Given the description of an element on the screen output the (x, y) to click on. 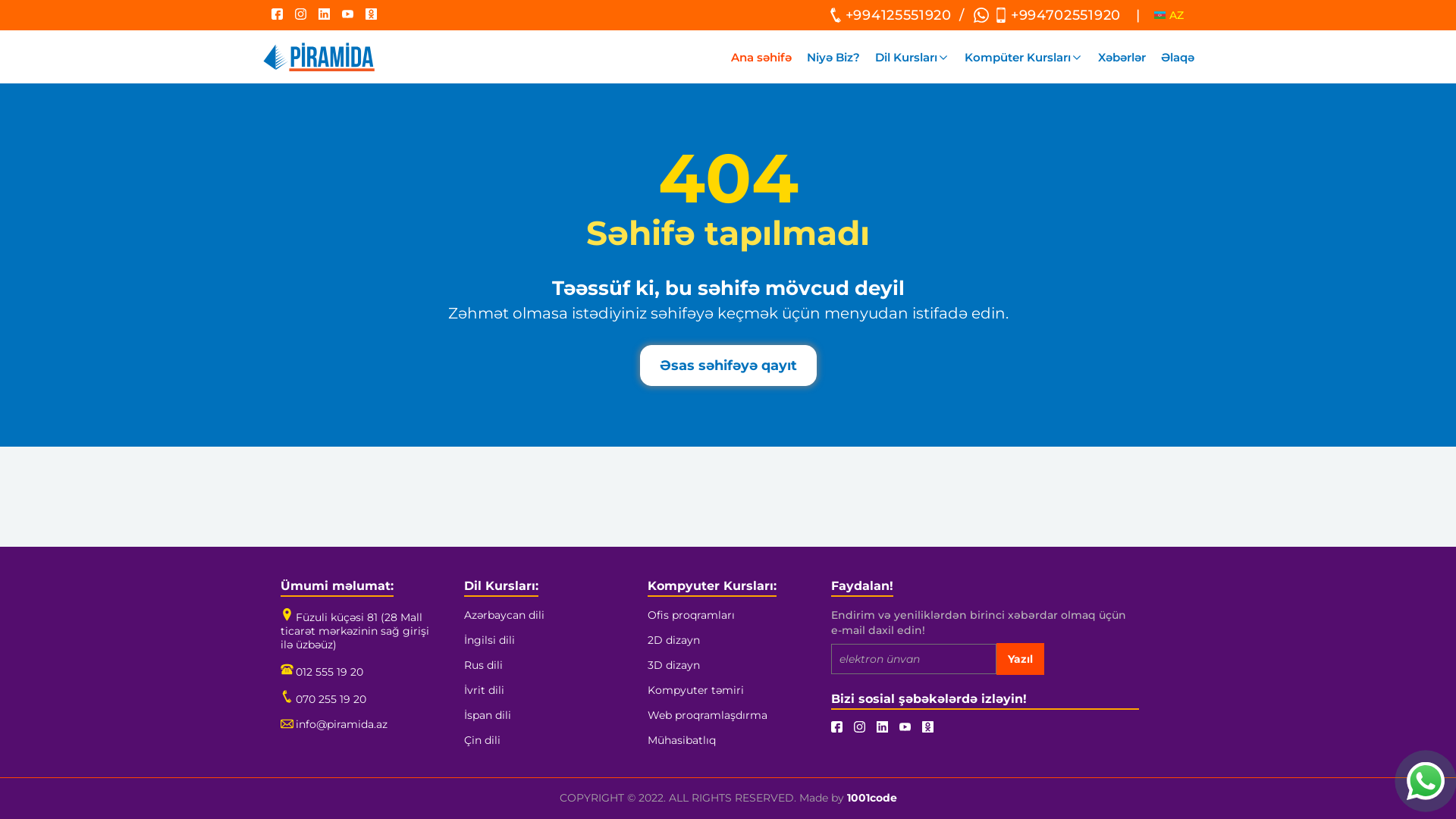
1001code Element type: text (871, 797)
3D dizayn Element type: text (673, 664)
Faydalan! Element type: text (862, 586)
012 555 19 20 Element type: text (321, 671)
info@piramida.az Element type: text (333, 724)
+994702551920 Element type: text (1055, 14)
2D dizayn Element type: text (673, 639)
Rus dili Element type: text (483, 664)
070 255 19 20 Element type: text (323, 699)
AZ Element type: text (1168, 14)
+994125551920 Element type: text (888, 14)
